Given the description of an element on the screen output the (x, y) to click on. 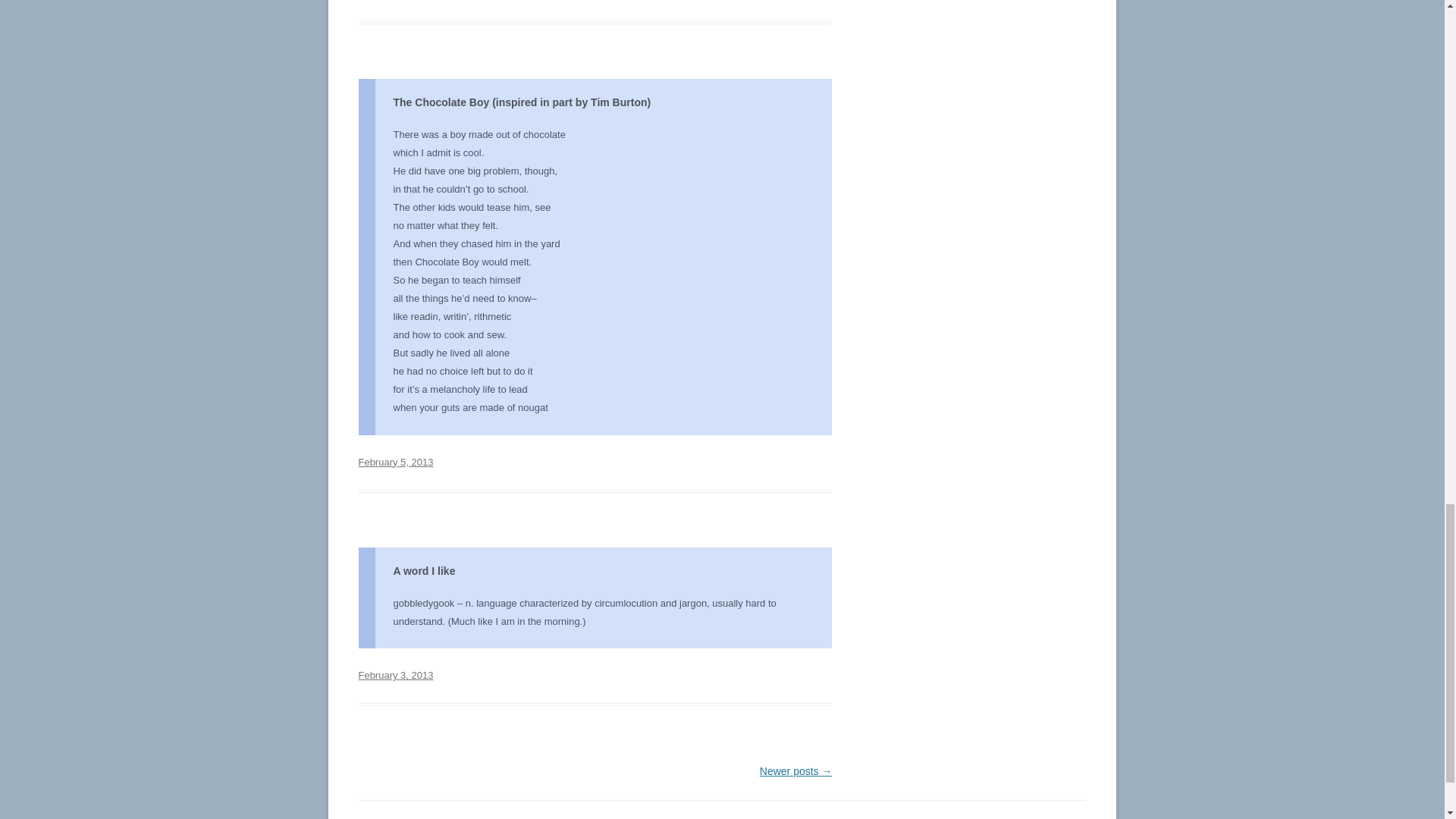
February 3, 2013 (395, 674)
February 5, 2013 (395, 461)
A word I like (423, 571)
Permalink to A word I like (395, 674)
